Given the description of an element on the screen output the (x, y) to click on. 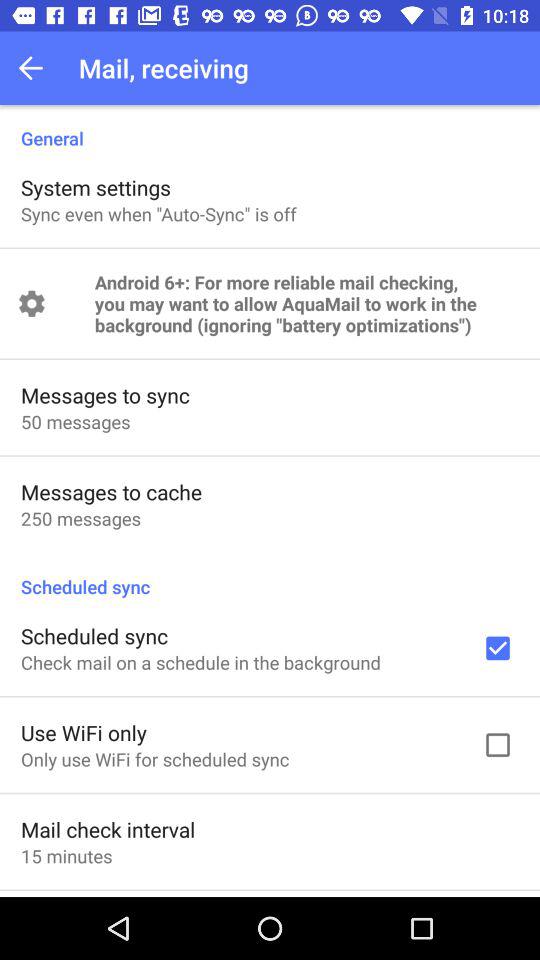
swipe until android 6 for (306, 303)
